Given the description of an element on the screen output the (x, y) to click on. 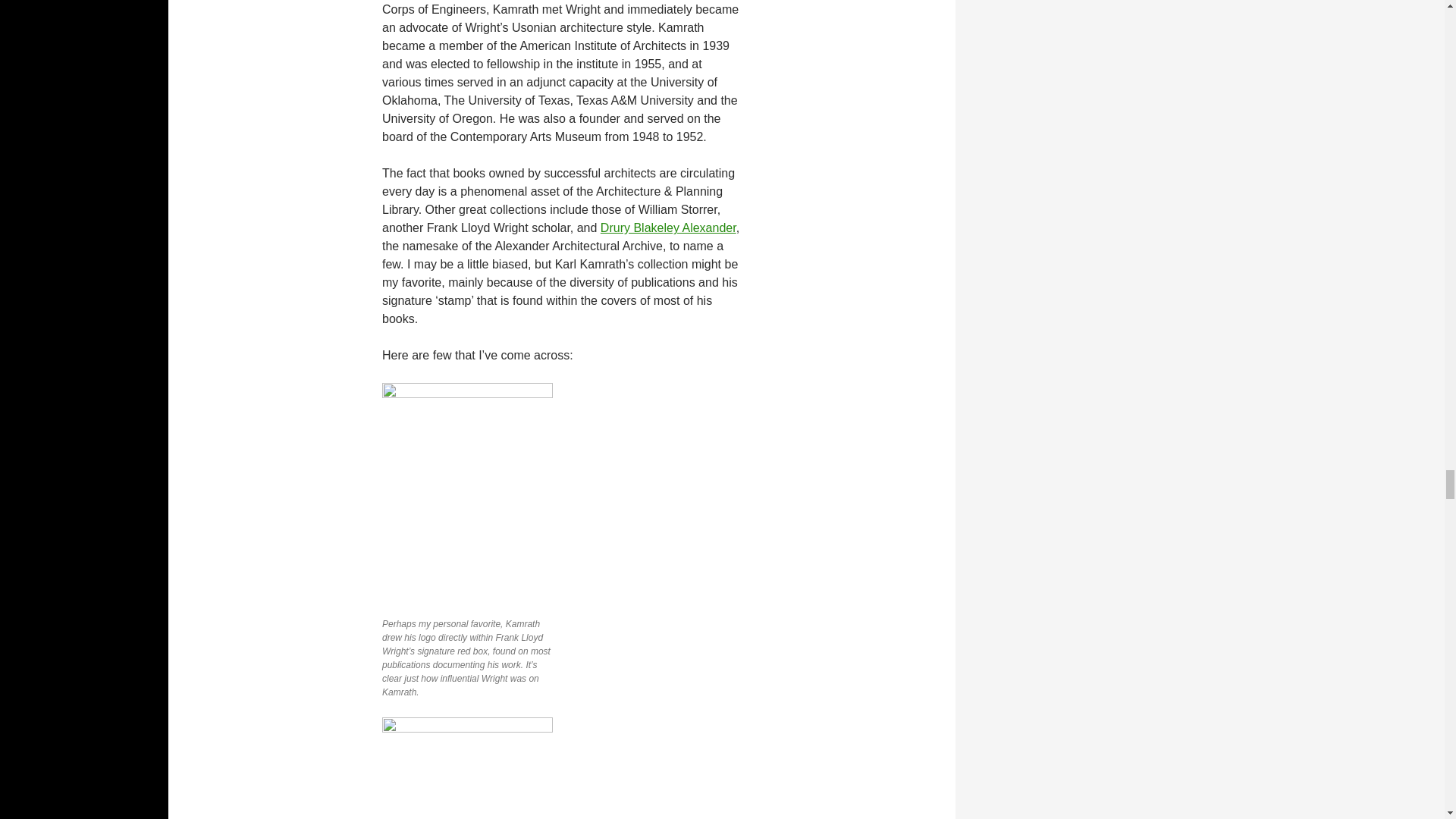
Drury Blakeley Alexander (667, 227)
